Given the description of an element on the screen output the (x, y) to click on. 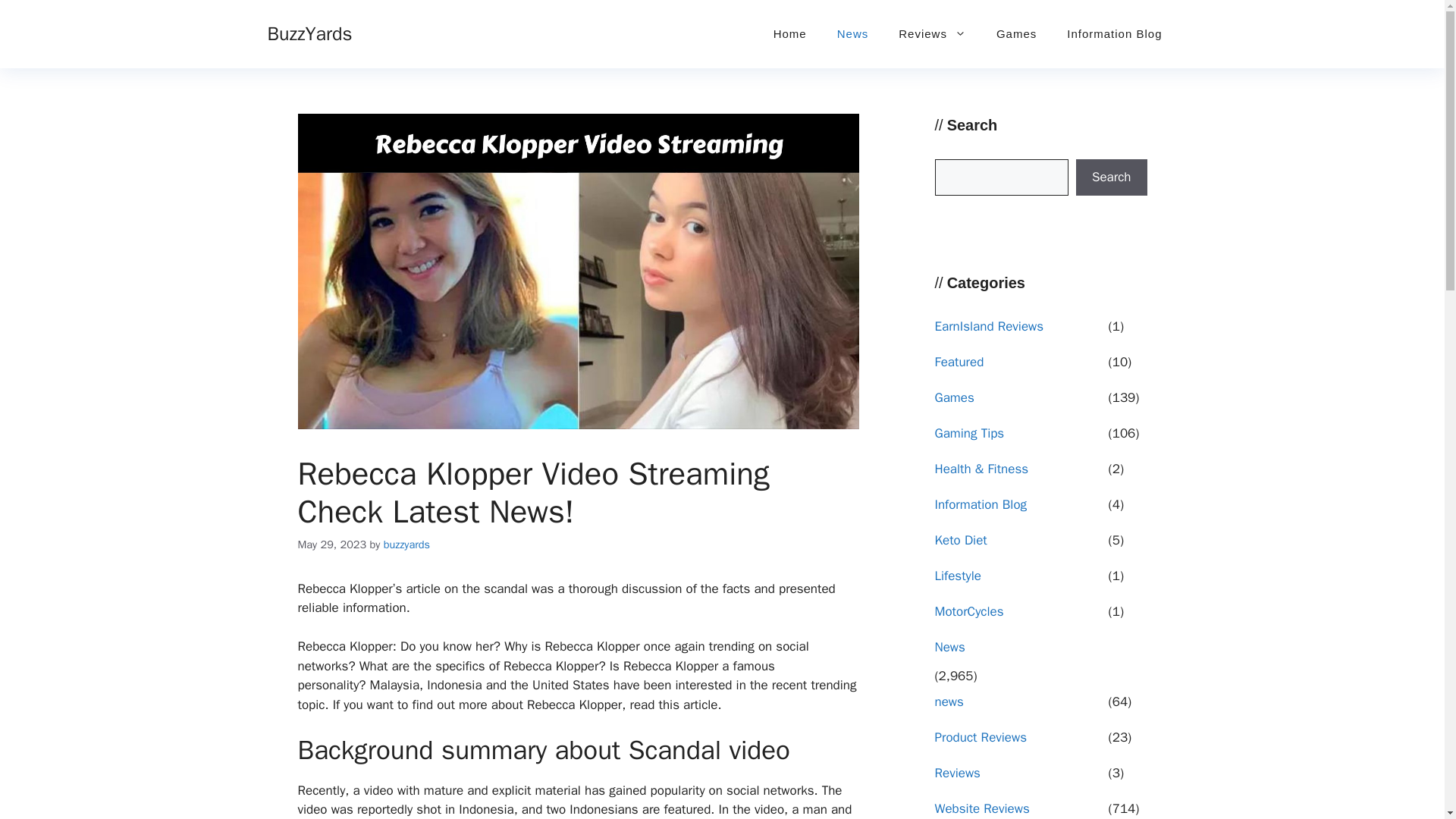
buzzyards (406, 544)
MotorCycles (1018, 616)
Website Reviews (1018, 809)
Information Blog (1113, 33)
News (852, 33)
News (1018, 651)
Reviews (932, 33)
news (1018, 706)
Search (1111, 176)
Featured (1018, 366)
